Given the description of an element on the screen output the (x, y) to click on. 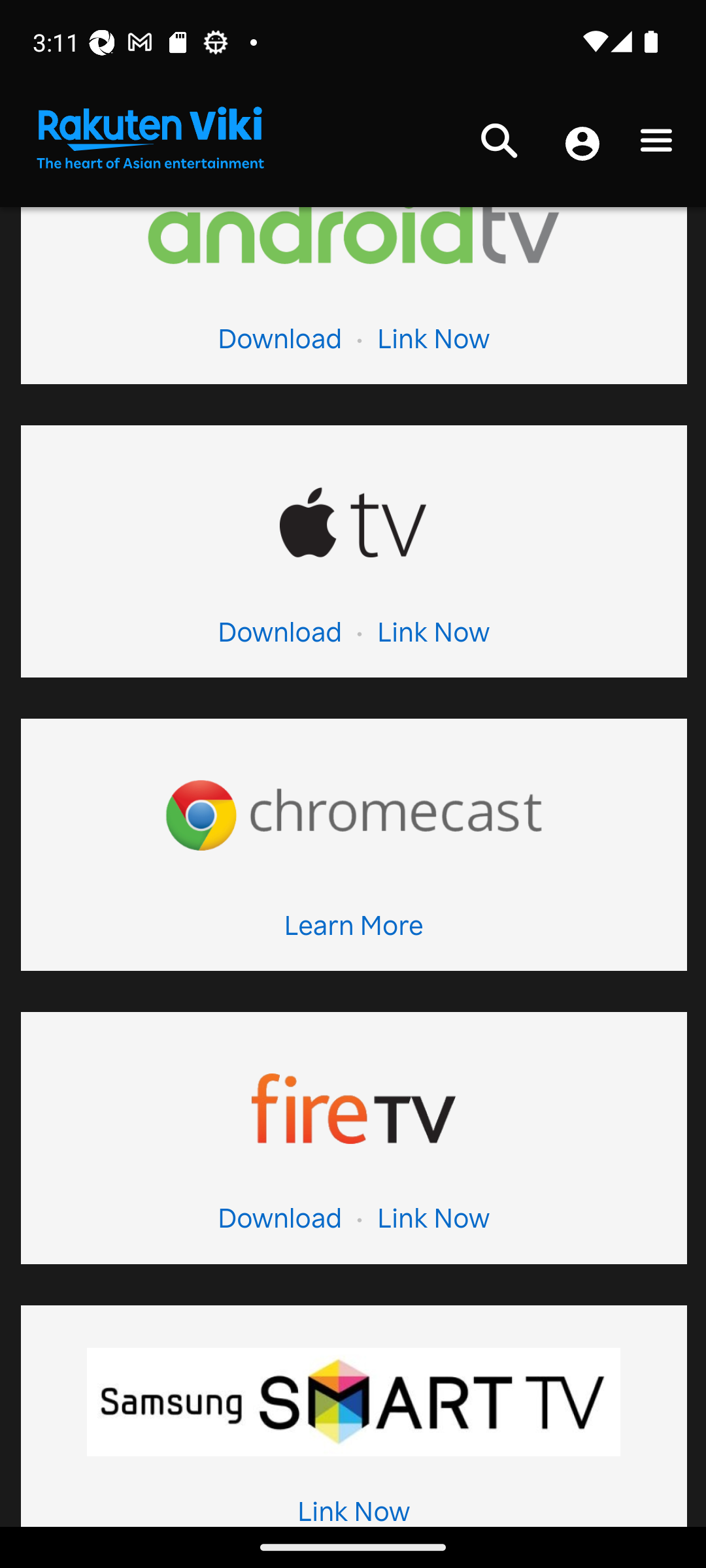
Go to homepage Rakuten Viki (149, 138)
nav.session.login (582, 146)
Settings menu (655, 144)
Download (279, 343)
Link Now (431, 343)
Download (279, 637)
Link Now (431, 637)
Learn More (353, 929)
Download (279, 1222)
Link Now (431, 1222)
Link Now (353, 1512)
